Given the description of an element on the screen output the (x, y) to click on. 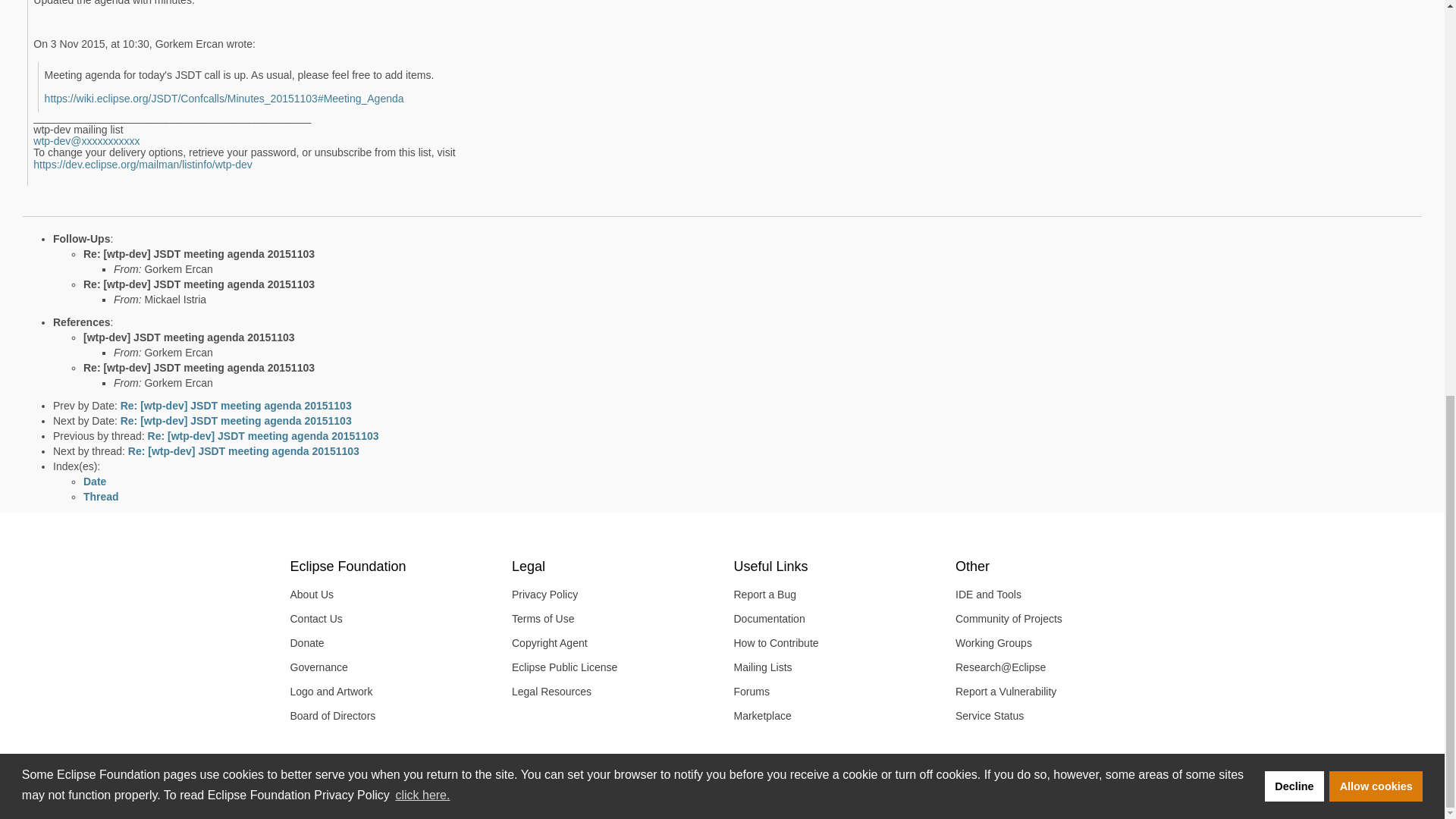
click here. (422, 31)
Allow cookies (1375, 22)
Decline (1294, 22)
